Given the description of an element on the screen output the (x, y) to click on. 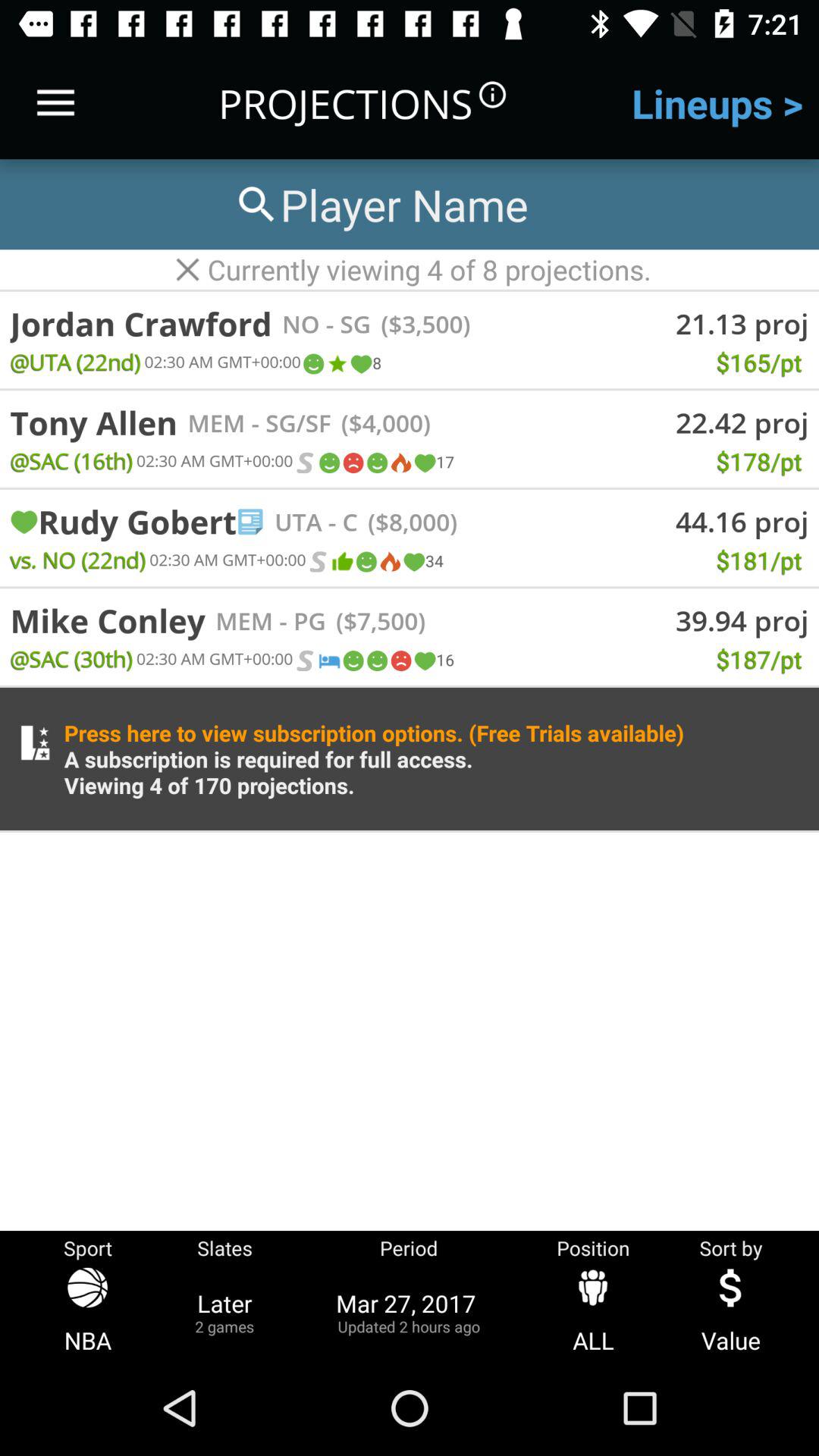
jump until @sac (30th) item (71, 658)
